Given the description of an element on the screen output the (x, y) to click on. 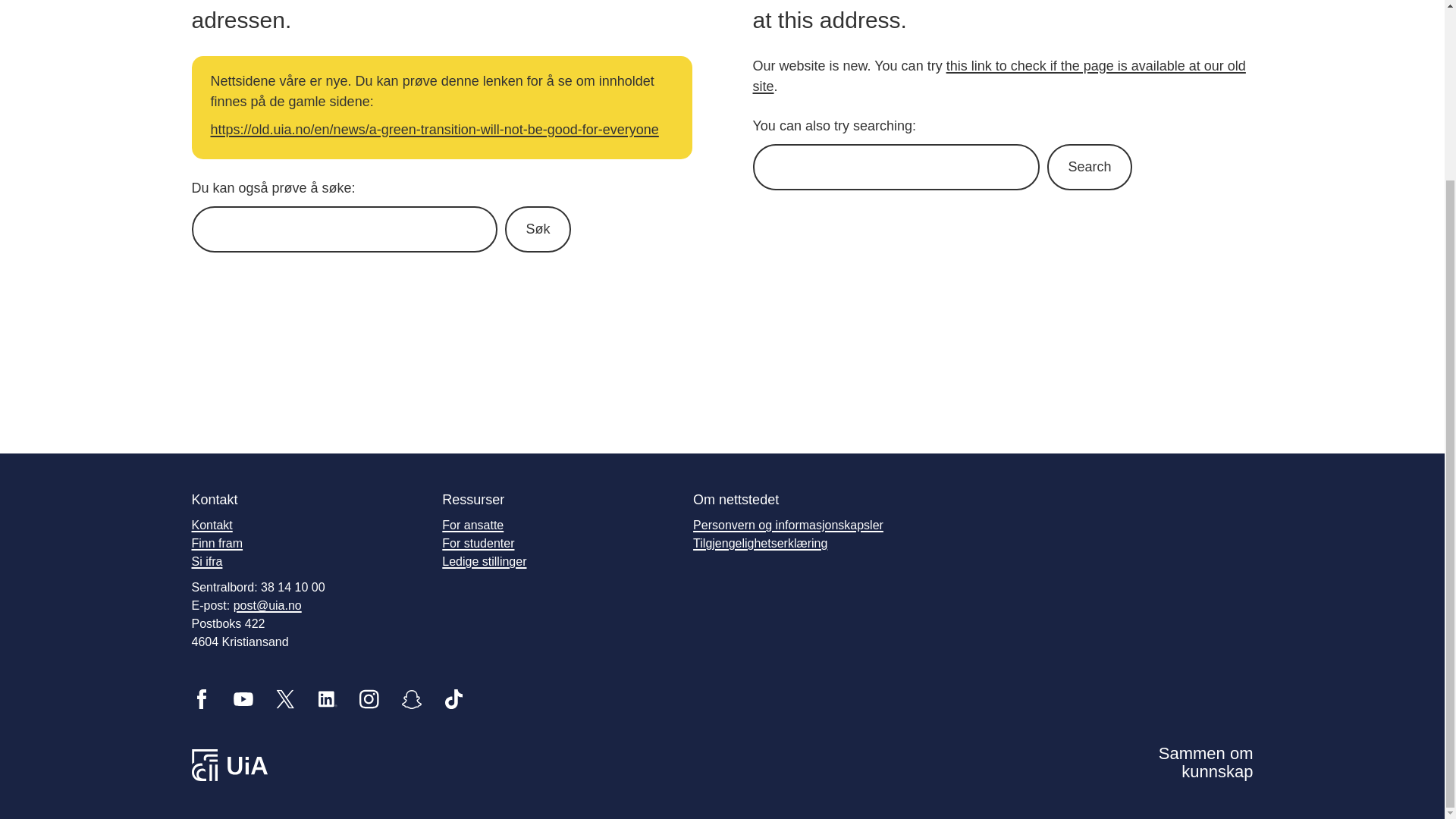
For ansatte (472, 524)
YouTube (242, 699)
Instagram (368, 699)
Tiktok (453, 699)
X (285, 699)
Search (1088, 167)
Facebook (200, 699)
this link to check if the page is available at our old site (998, 76)
Si ifra (206, 561)
Snapchat (411, 699)
Finn fram (216, 543)
Ledige stillinger (483, 561)
Kontakt (210, 524)
For studenter (477, 543)
LinkedIn (327, 699)
